Given the description of an element on the screen output the (x, y) to click on. 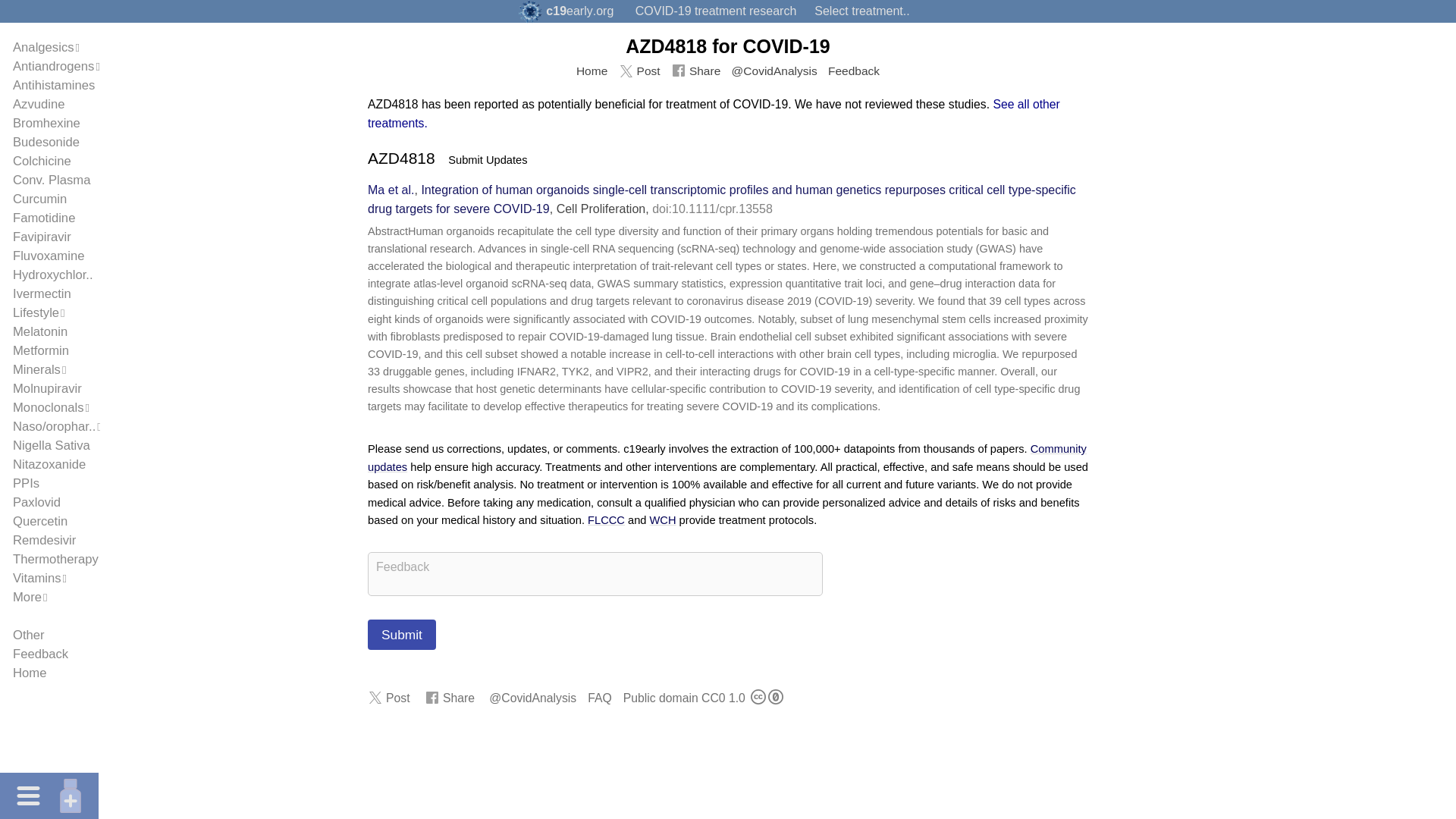
Hydroxychlor.. (53, 274)
Monoclonals (48, 407)
Antiandrogens (53, 65)
Ivermectin (42, 293)
Lifestyle (36, 312)
Metformin (40, 350)
Bromhexine (46, 123)
Curcumin (39, 198)
Famotidine (44, 217)
Conv. Plasma (51, 179)
Fluvoxamine (48, 255)
Minerals (37, 369)
Antihistamines (53, 84)
Molnupiravir (47, 388)
Analgesics (43, 47)
